Given the description of an element on the screen output the (x, y) to click on. 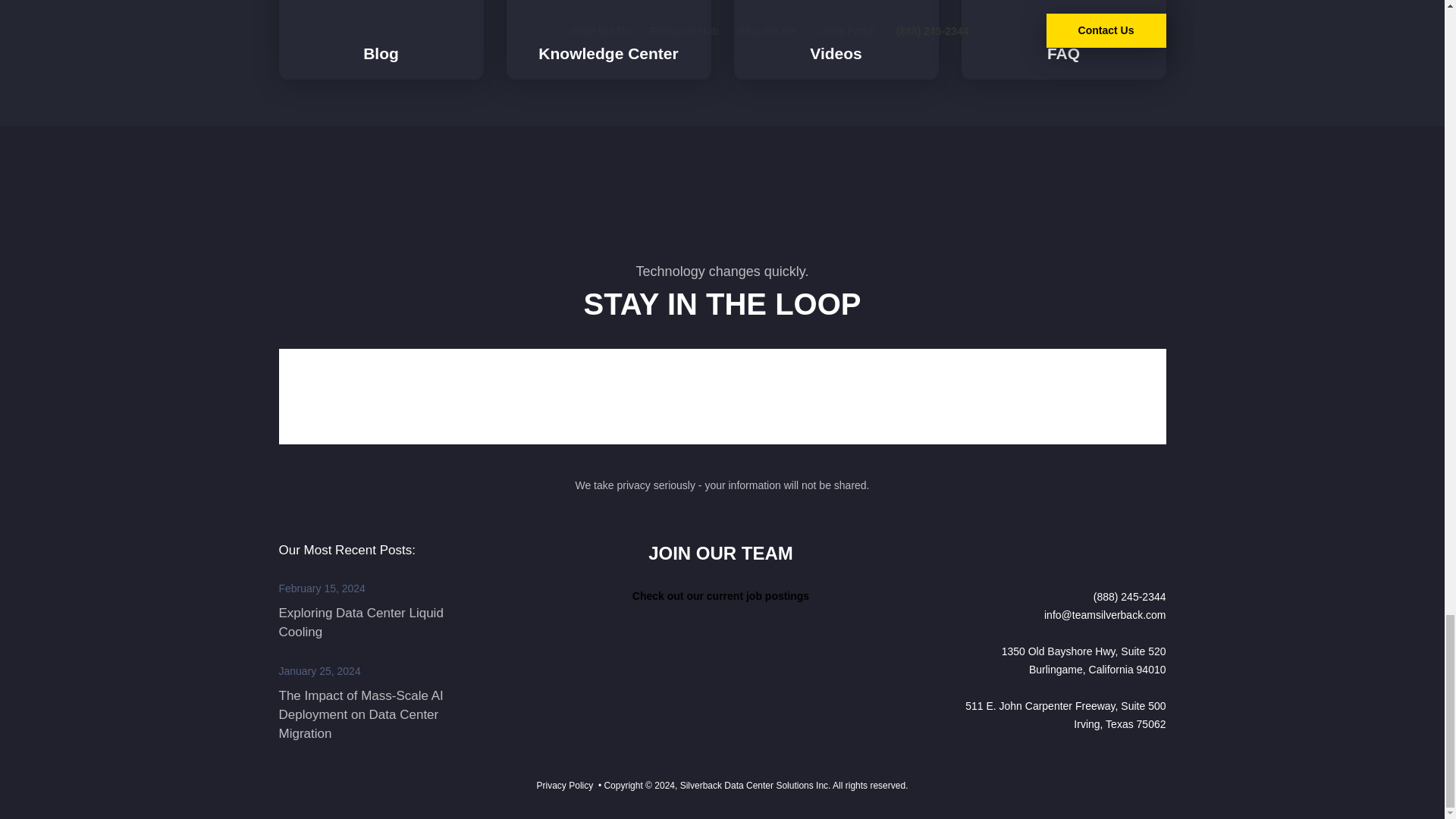
Exploring Data Center Liquid Cooling (361, 622)
Videos (836, 39)
Knowledge Center (608, 39)
FAQ (1063, 39)
Blog (381, 39)
